Given the description of an element on the screen output the (x, y) to click on. 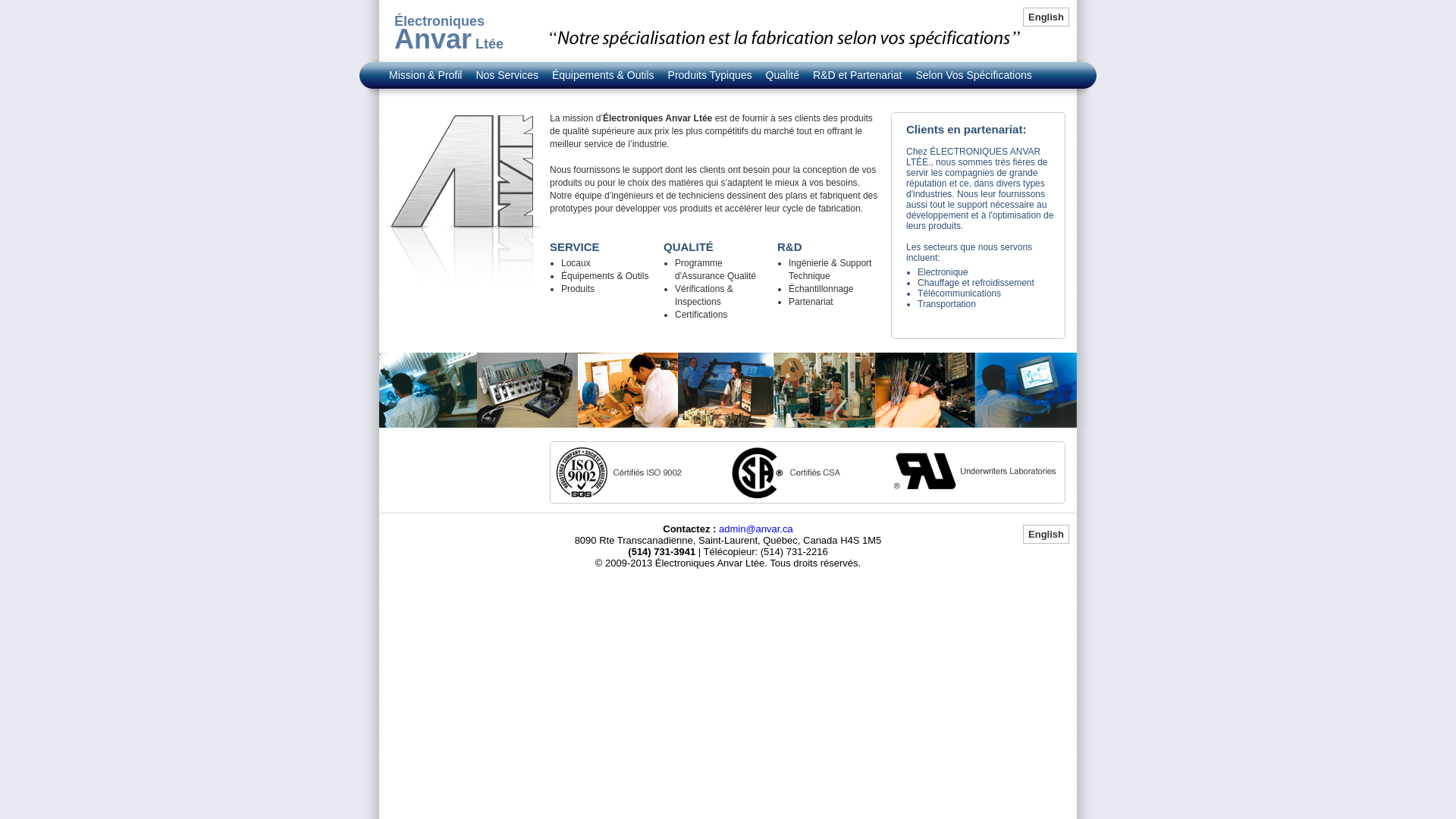
admin@anvar.ca Element type: text (755, 528)
